Given the description of an element on the screen output the (x, y) to click on. 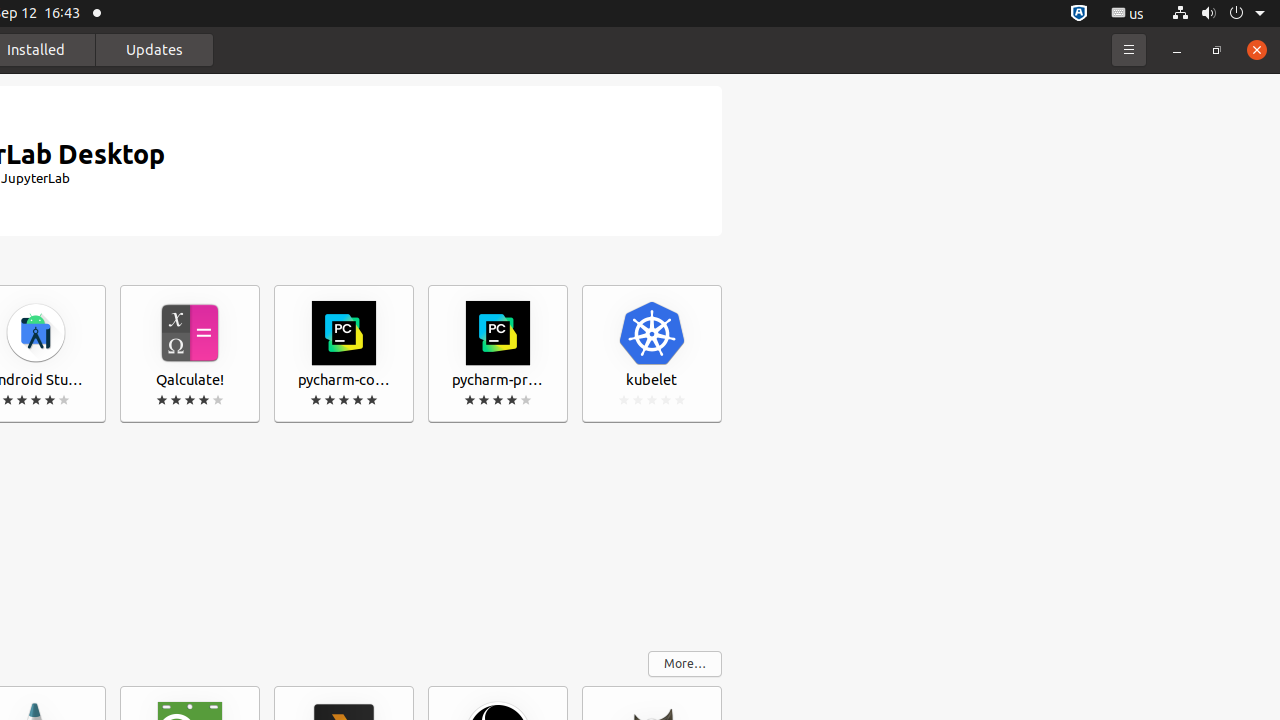
Qalculate! Element type: push-button (190, 354)
pycharm-community Element type: push-button (344, 354)
Close Element type: push-button (1257, 50)
Minimize Element type: push-button (1177, 50)
